Given the description of an element on the screen output the (x, y) to click on. 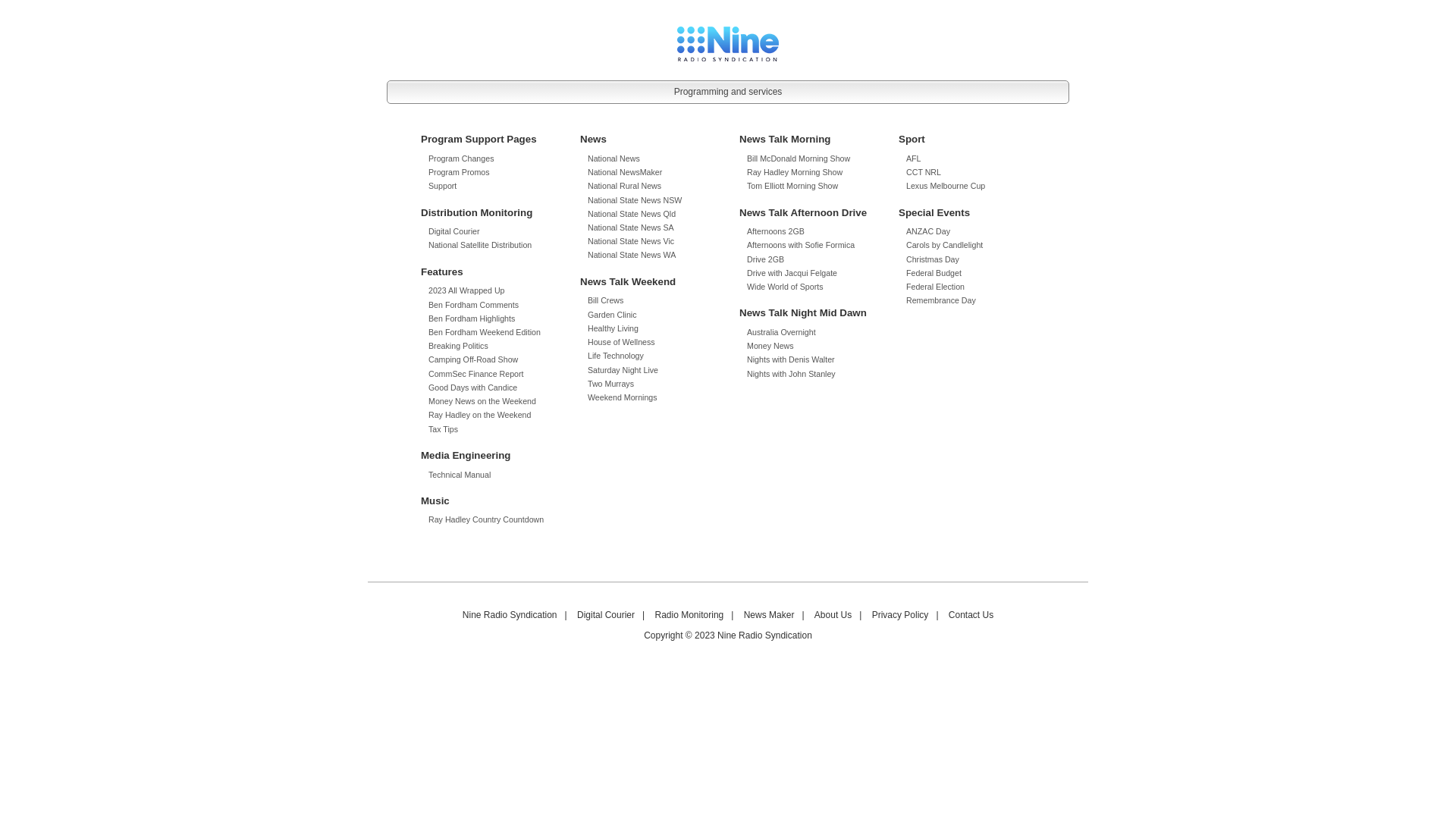
Garden Clinic Element type: text (612, 314)
AFL Element type: text (913, 158)
Radio Monitoring Element type: text (689, 614)
Camping Off-Road Show Element type: text (472, 359)
Bill Crews Element type: text (605, 299)
Nights with John Stanley Element type: text (790, 373)
Money News Element type: text (769, 345)
Christmas Day Element type: text (932, 258)
National State News Vic Element type: text (630, 240)
Program Promos Element type: text (458, 171)
2023 All Wrapped Up Element type: text (466, 289)
Bill McDonald Morning Show Element type: text (798, 158)
Nights with Denis Walter Element type: text (790, 359)
Weekend Mornings Element type: text (622, 396)
National Satellite Distribution Element type: text (479, 244)
Tom Elliott Morning Show Element type: text (791, 185)
Carols by Candlelight Element type: text (944, 244)
Two Murrays Element type: text (610, 383)
Ray Hadley Morning Show Element type: text (794, 171)
Afternoons 2GB Element type: text (775, 230)
Digital Courier Element type: text (454, 230)
Drive 2GB Element type: text (765, 258)
Remembrance Day Element type: text (940, 299)
Drive with Jacqui Felgate Element type: text (791, 272)
National Rural News Element type: text (624, 185)
Saturday Night Live Element type: text (622, 369)
Technical Manual Element type: text (459, 474)
Breaking Politics Element type: text (458, 345)
National State News SA Element type: text (630, 227)
National NewsMaker Element type: text (624, 171)
Digital Courier Element type: text (605, 614)
Healthy Living Element type: text (612, 327)
Ben Fordham Comments Element type: text (473, 304)
Australia Overnight Element type: text (780, 331)
Privacy Policy Element type: text (900, 614)
Support Element type: text (442, 185)
About Us Element type: text (832, 614)
House of Wellness Element type: text (621, 341)
CCT NRL Element type: text (923, 171)
Nine Radio Syndication Element type: text (509, 614)
Contact Us Element type: text (970, 614)
Wide World of Sports Element type: text (784, 286)
National State News WA Element type: text (631, 254)
Federal Election Element type: text (935, 286)
Money News on the Weekend Element type: text (482, 400)
Ben Fordham Weekend Edition Element type: text (484, 331)
Life Technology Element type: text (615, 355)
National News Element type: text (613, 158)
Click here to return to our home page. Element type: hover (727, 42)
News Maker Element type: text (768, 614)
Ray Hadley on the Weekend Element type: text (479, 414)
Federal Budget Element type: text (933, 272)
Ray Hadley Country Countdown Element type: text (485, 519)
Tax Tips Element type: text (443, 428)
Afternoons with Sofie Formica Element type: text (800, 244)
Lexus Melbourne Cup Element type: text (945, 185)
ANZAC Day Element type: text (928, 230)
Good Days with Candice Element type: text (472, 387)
Program Changes Element type: text (460, 158)
CommSec Finance Report Element type: text (476, 373)
National State News NSW Element type: text (634, 199)
National State News Qld Element type: text (631, 213)
Ben Fordham Highlights Element type: text (471, 318)
